Given the description of an element on the screen output the (x, y) to click on. 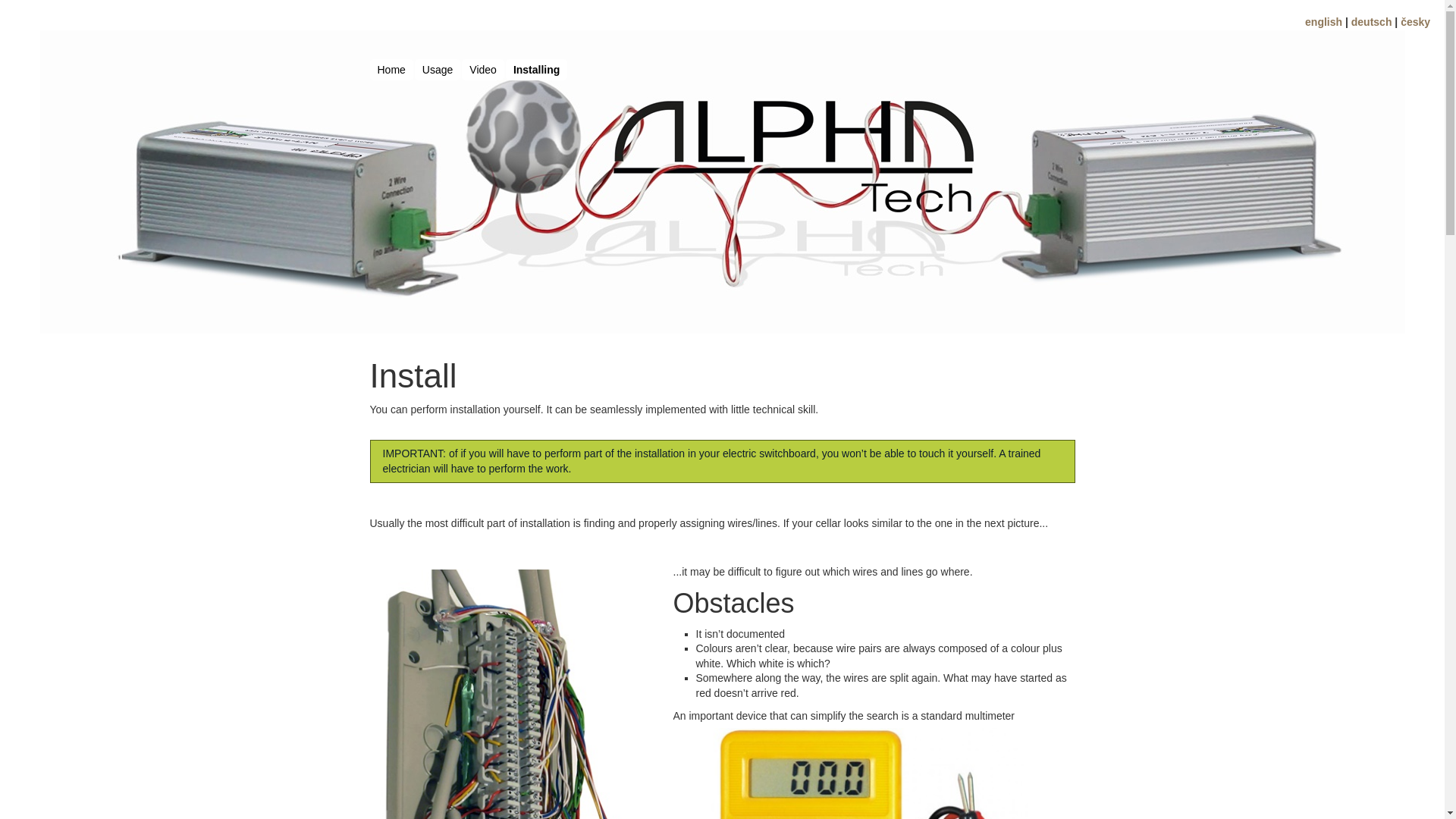
Usage Element type: text (437, 69)
Video Element type: text (482, 69)
Home Element type: text (391, 69)
english Element type: text (1323, 21)
deutsch Element type: text (1371, 21)
Installing Element type: text (536, 69)
